Given the description of an element on the screen output the (x, y) to click on. 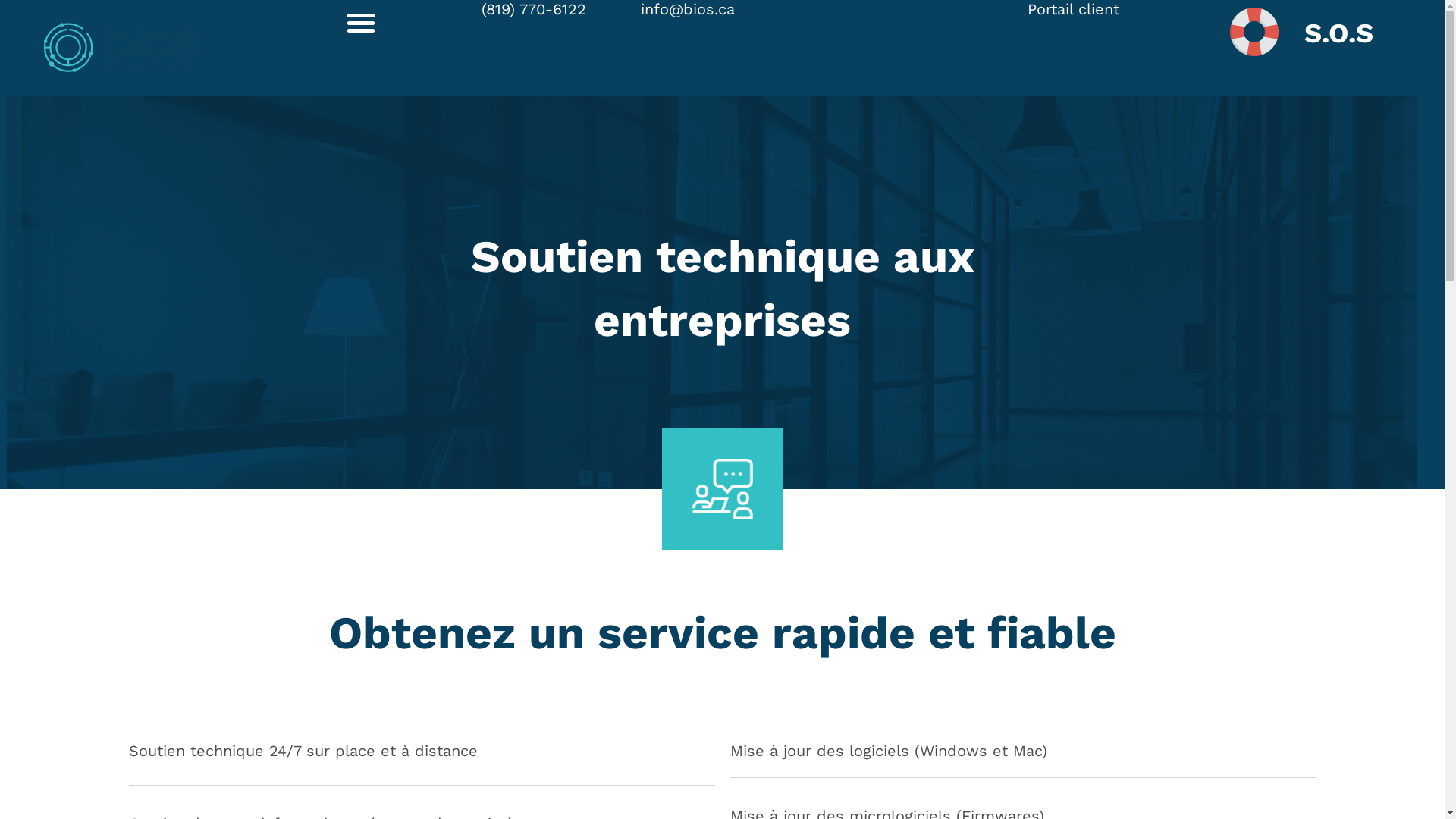
info@bios.ca Element type: text (796, 9)
(819) 770-6122 Element type: text (560, 9)
Portail client Element type: text (1073, 9)
sos Element type: hover (1254, 31)
S.O.S Element type: text (1338, 33)
bios_support_blanc Element type: hover (721, 488)
